Given the description of an element on the screen output the (x, y) to click on. 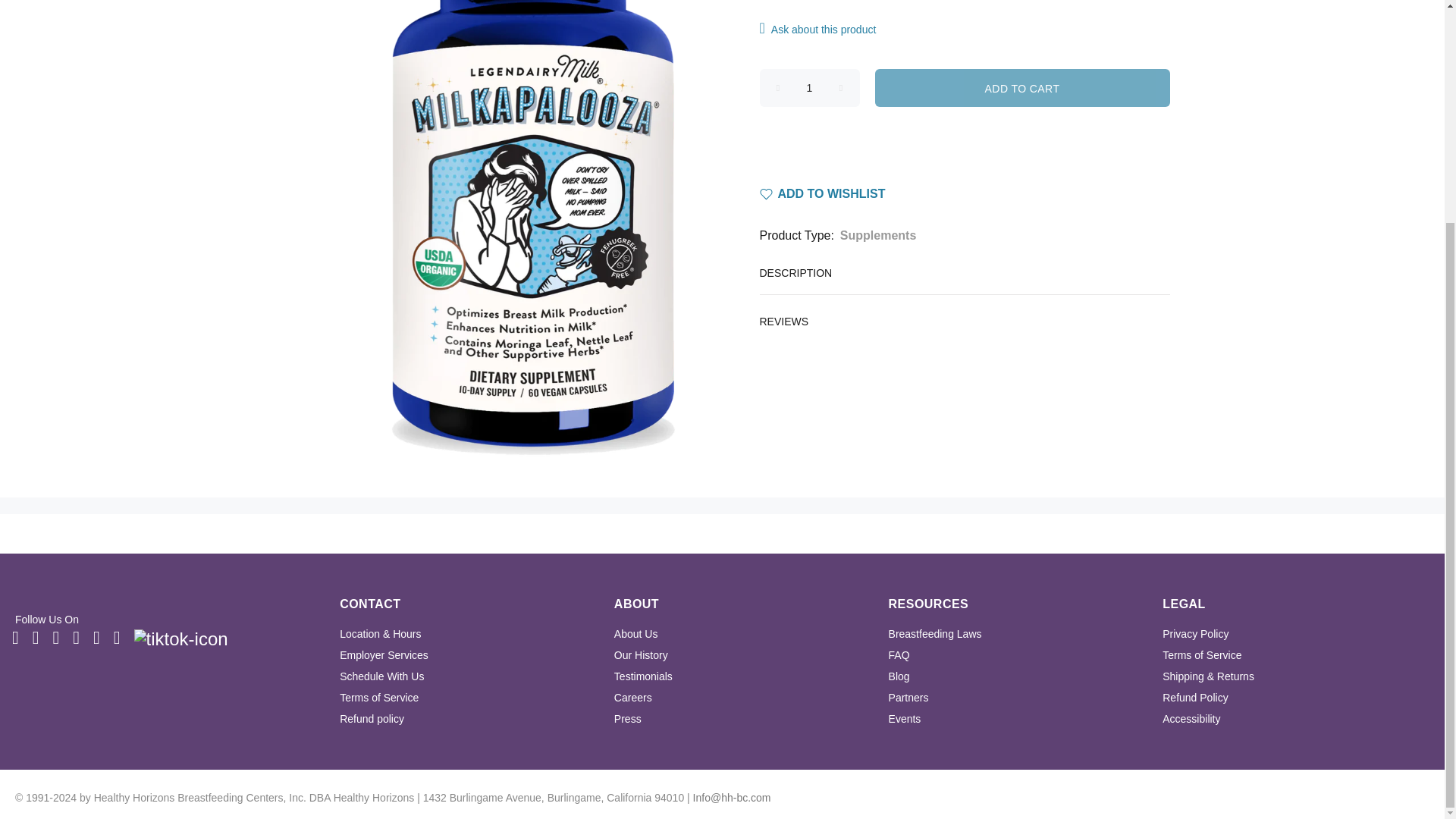
1 (810, 87)
